Given the description of an element on the screen output the (x, y) to click on. 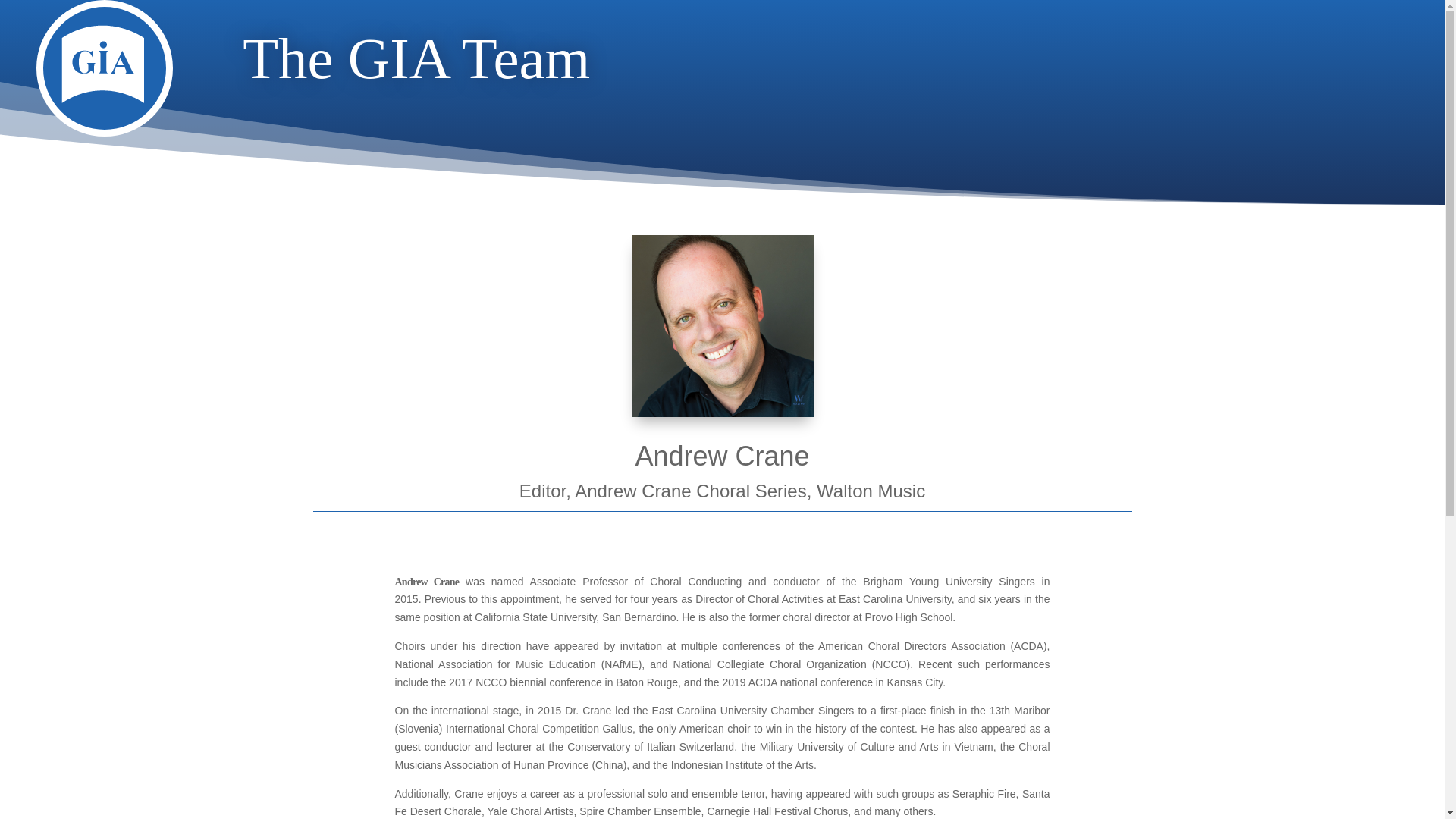
brand-GIAemblem-w (721, 325)
